Given the description of an element on the screen output the (x, y) to click on. 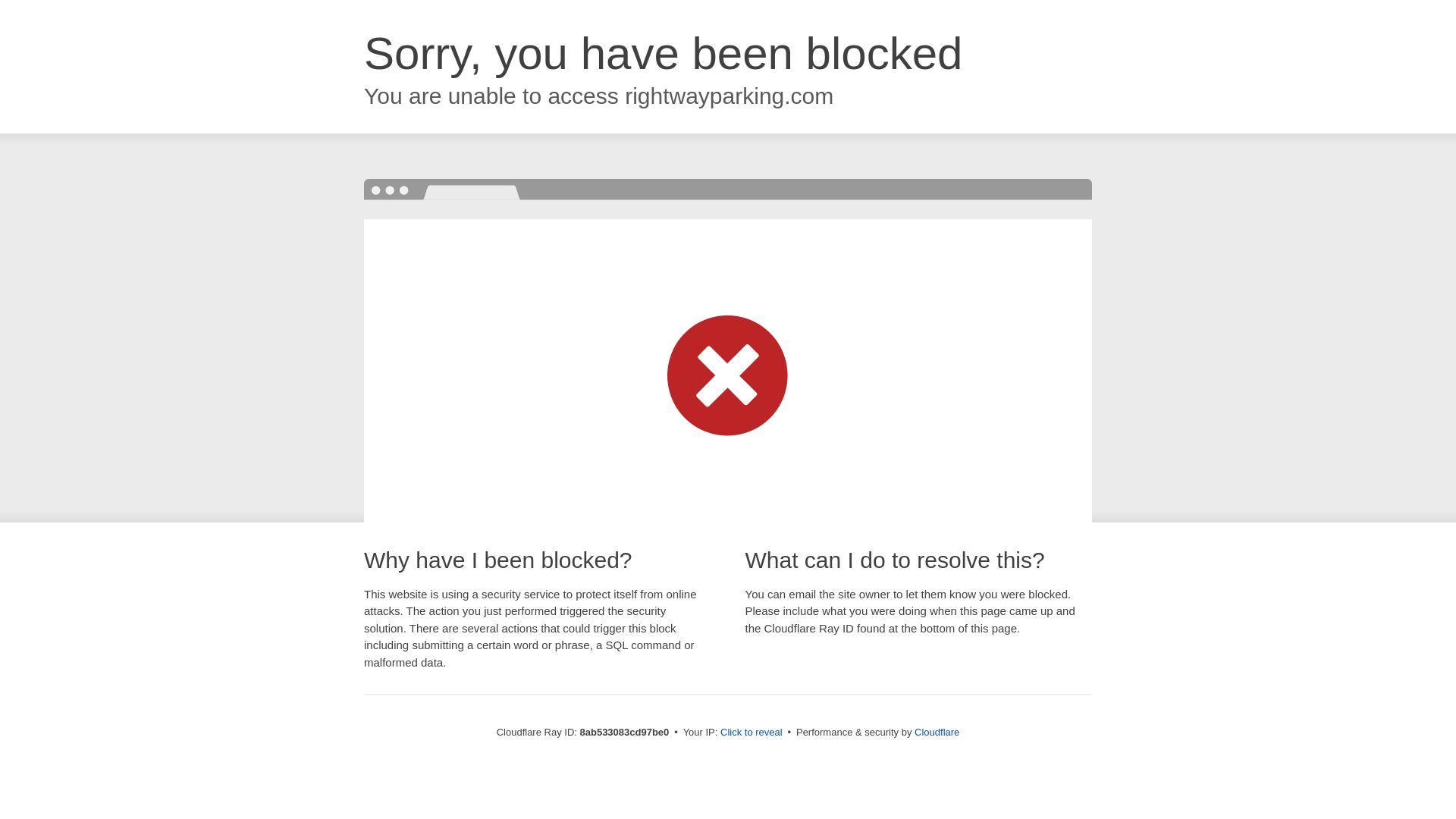
Click to reveal (751, 732)
Cloudflare (936, 731)
